Given the description of an element on the screen output the (x, y) to click on. 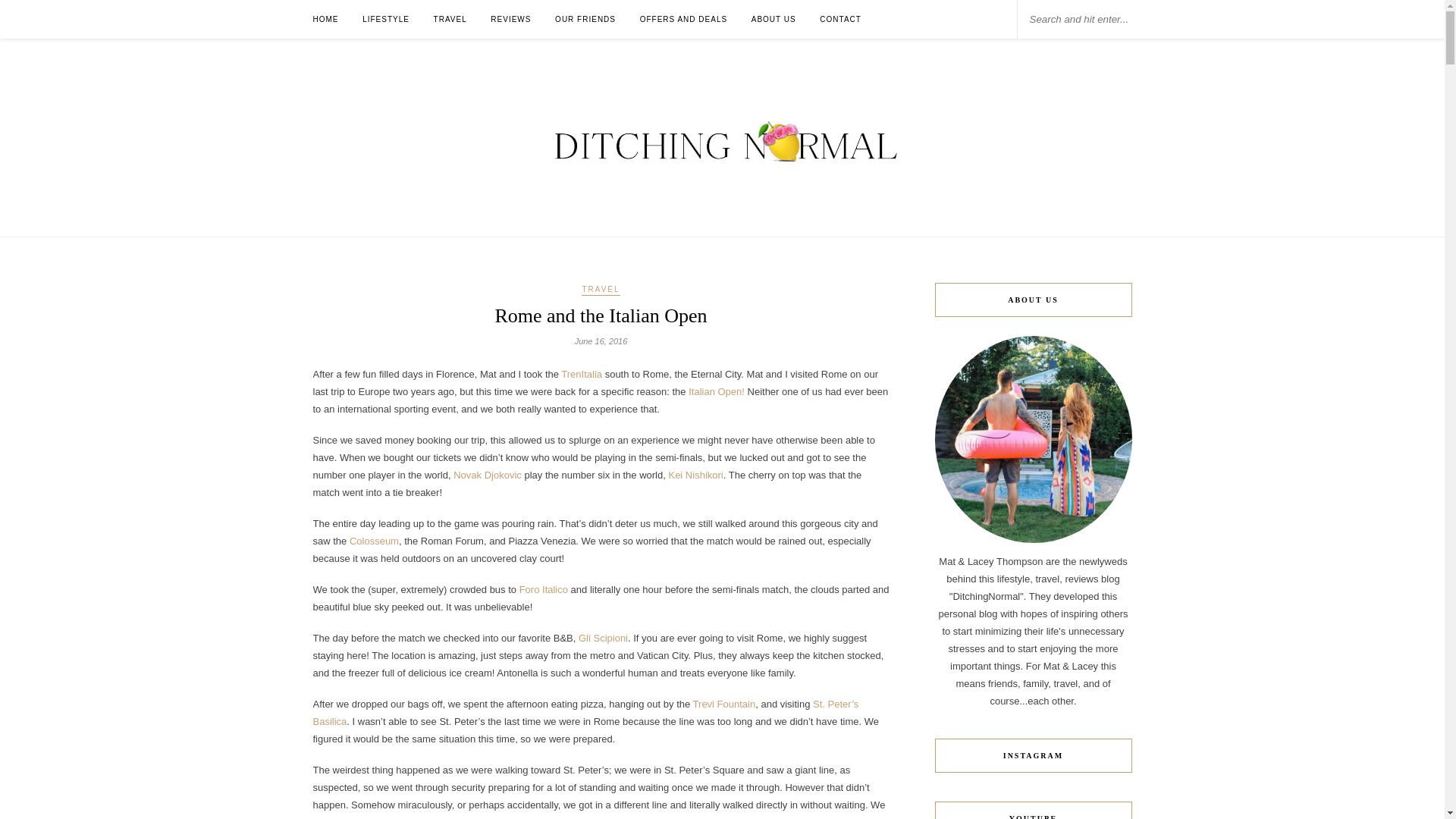
Foro Italico (543, 589)
TrenItalia (581, 374)
OUR FRIENDS (584, 19)
Trevi Fountain (724, 704)
Colosseum (373, 541)
Gli Scipioni (602, 637)
Italian Open! (716, 391)
REVIEWS (510, 19)
TRAVEL (600, 290)
View all posts in Travel (600, 290)
OFFERS AND DEALS (683, 19)
ABOUT US (773, 19)
CONTACT (840, 19)
LIFESTYLE (385, 19)
Novak Djokovic (488, 474)
